Given the description of an element on the screen output the (x, y) to click on. 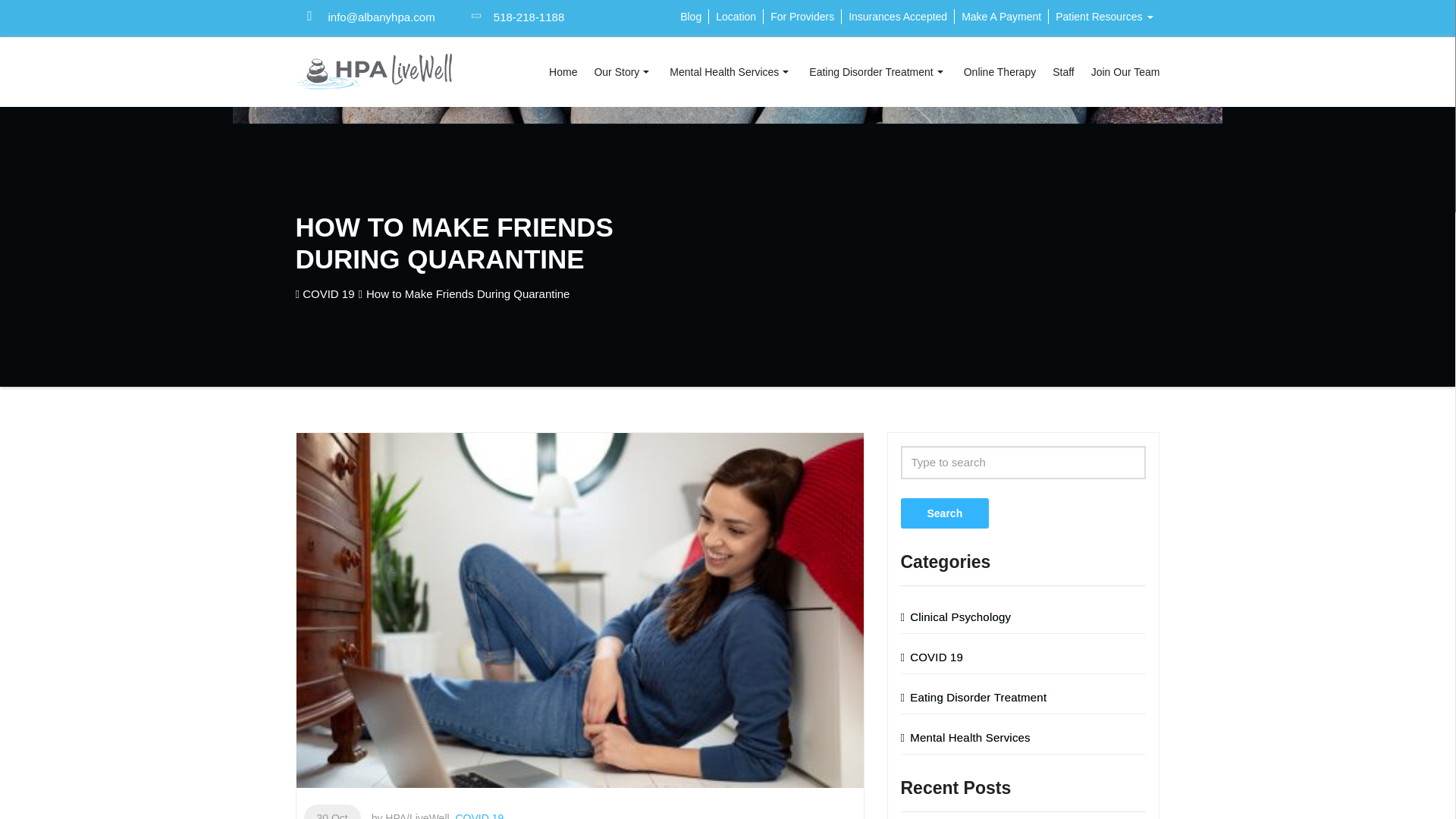
Patient Resources (1103, 16)
Location (735, 16)
For Providers (801, 16)
Patient Resources (1103, 16)
Make A Payment (1001, 16)
Our Story (623, 71)
Mental Health Services (730, 71)
Blog (689, 16)
Eating Disorder Treatment (877, 71)
Insurances Accepted (897, 16)
